Given the description of an element on the screen output the (x, y) to click on. 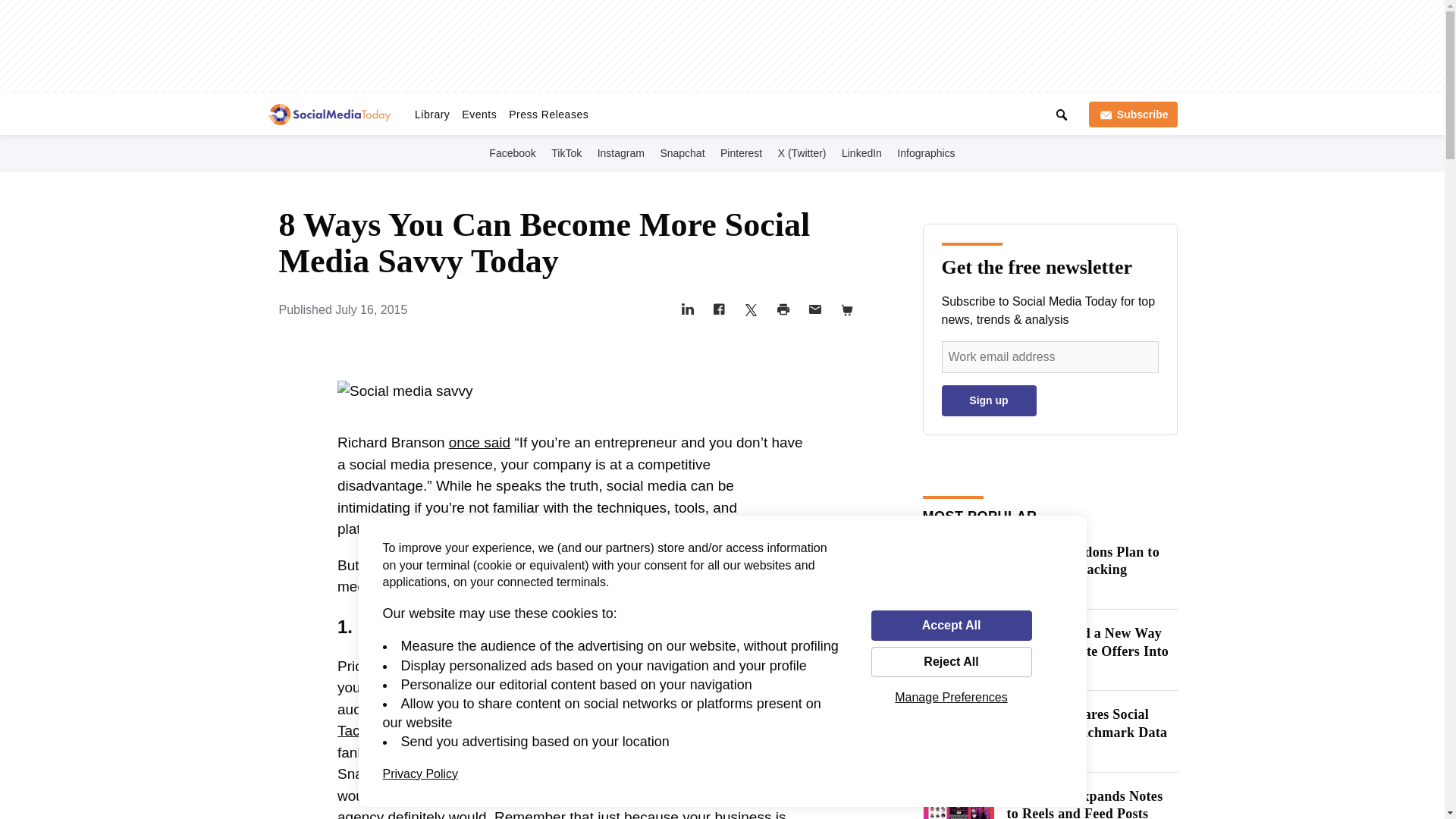
Pinterest (741, 152)
Facebook (512, 152)
Accept All (950, 625)
Reject All (950, 662)
LinkedIn (861, 152)
Become a Contributor (806, 110)
Library (432, 114)
Events (478, 114)
Subscribe (1132, 114)
Manage Preferences (950, 697)
SMT Experts (710, 110)
Snapchat (681, 152)
Live Twitter Chat (624, 110)
Press Releases (548, 114)
Privacy Policy (419, 773)
